Given the description of an element on the screen output the (x, y) to click on. 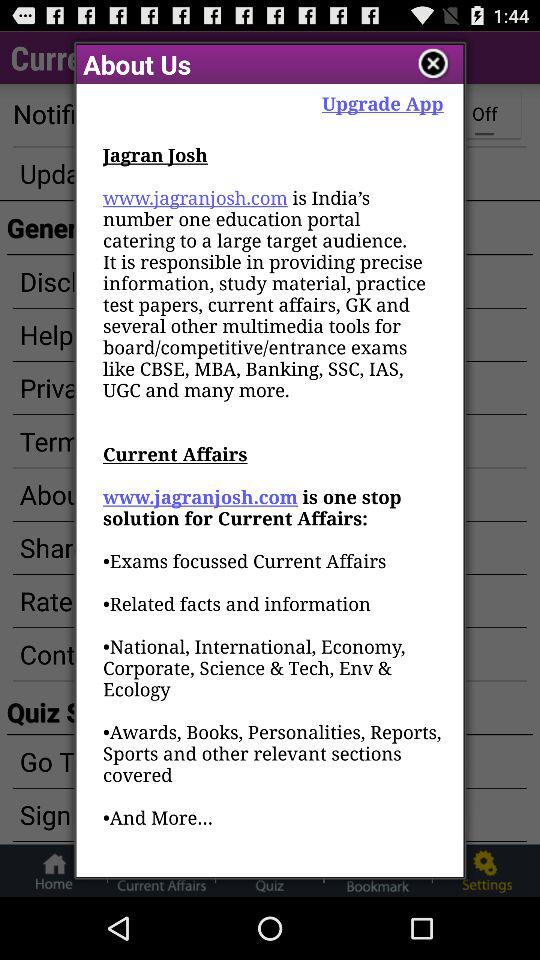
press jagran josh www at the center (273, 509)
